Given the description of an element on the screen output the (x, y) to click on. 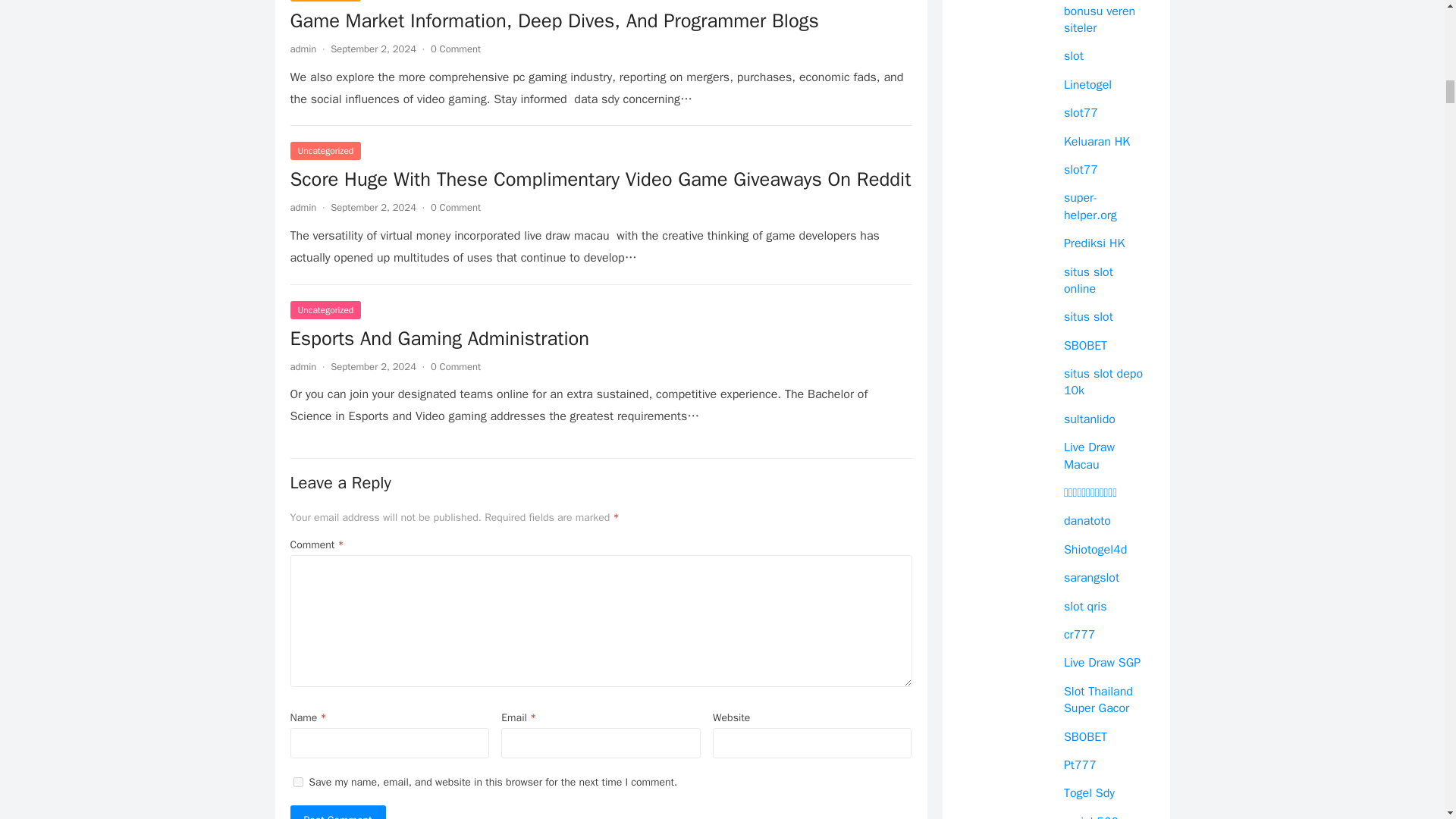
Uncategorized (325, 310)
admin (302, 206)
Post Comment (337, 812)
Posts by admin (302, 206)
yes (297, 782)
0 Comment (455, 48)
admin (302, 366)
0 Comment (455, 366)
Uncategorized (325, 150)
